Given the description of an element on the screen output the (x, y) to click on. 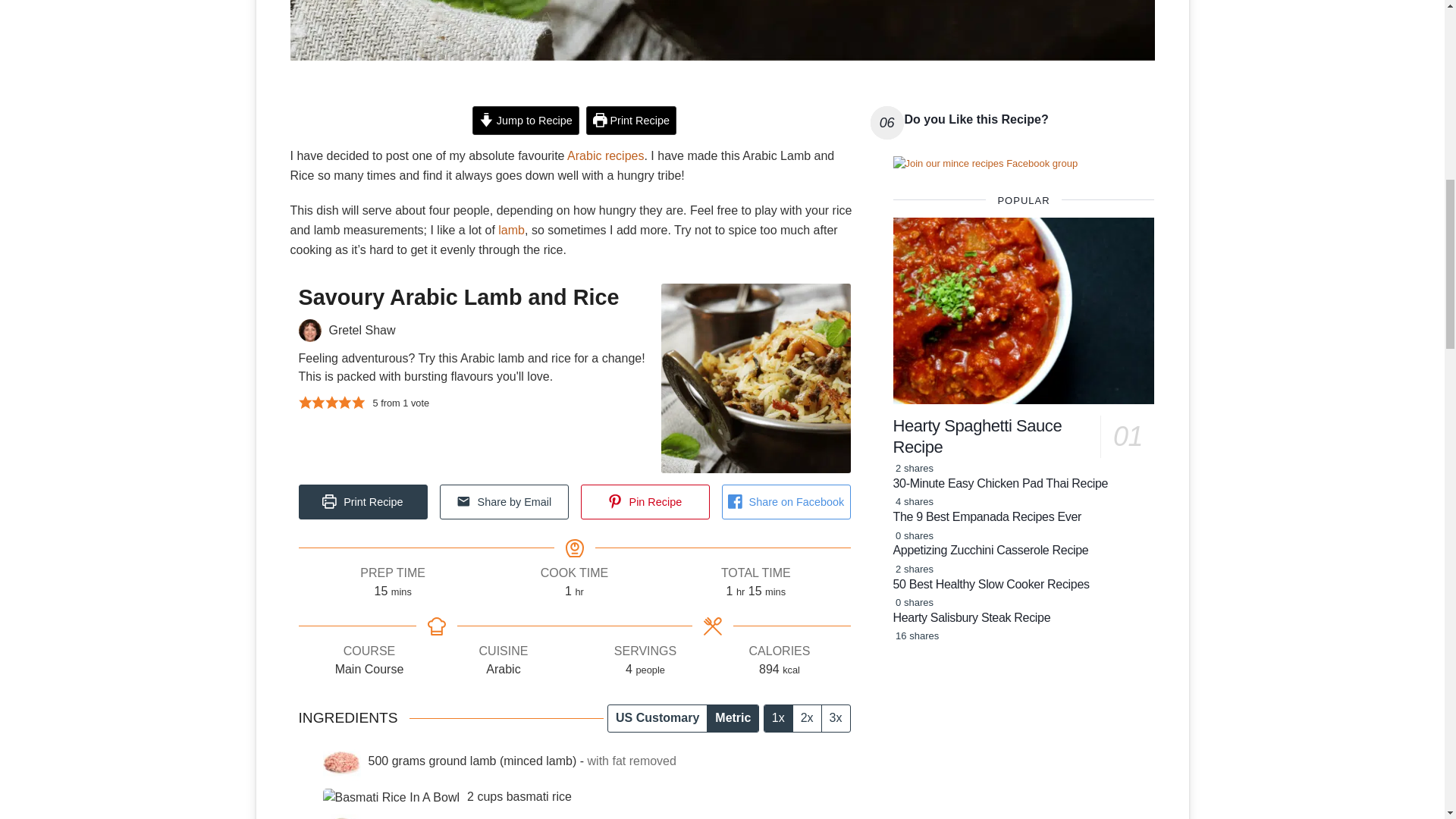
Arabic recipes (605, 155)
Savoury Arabic Lamb And Rice 4 (342, 761)
lamb (510, 229)
Savoury Arabic Lamb And Rice 2 (755, 378)
Savoury Arabic Lamb And Rice 5 (391, 797)
Savoury Arabic Lamb And Rice 6 (342, 816)
Print Recipe (631, 120)
Jump to Recipe (525, 120)
Savoury Arabic Lamb And Rice 1 (721, 30)
Savoury Arabic Lamb And Rice 3 (309, 330)
